Given the description of an element on the screen output the (x, y) to click on. 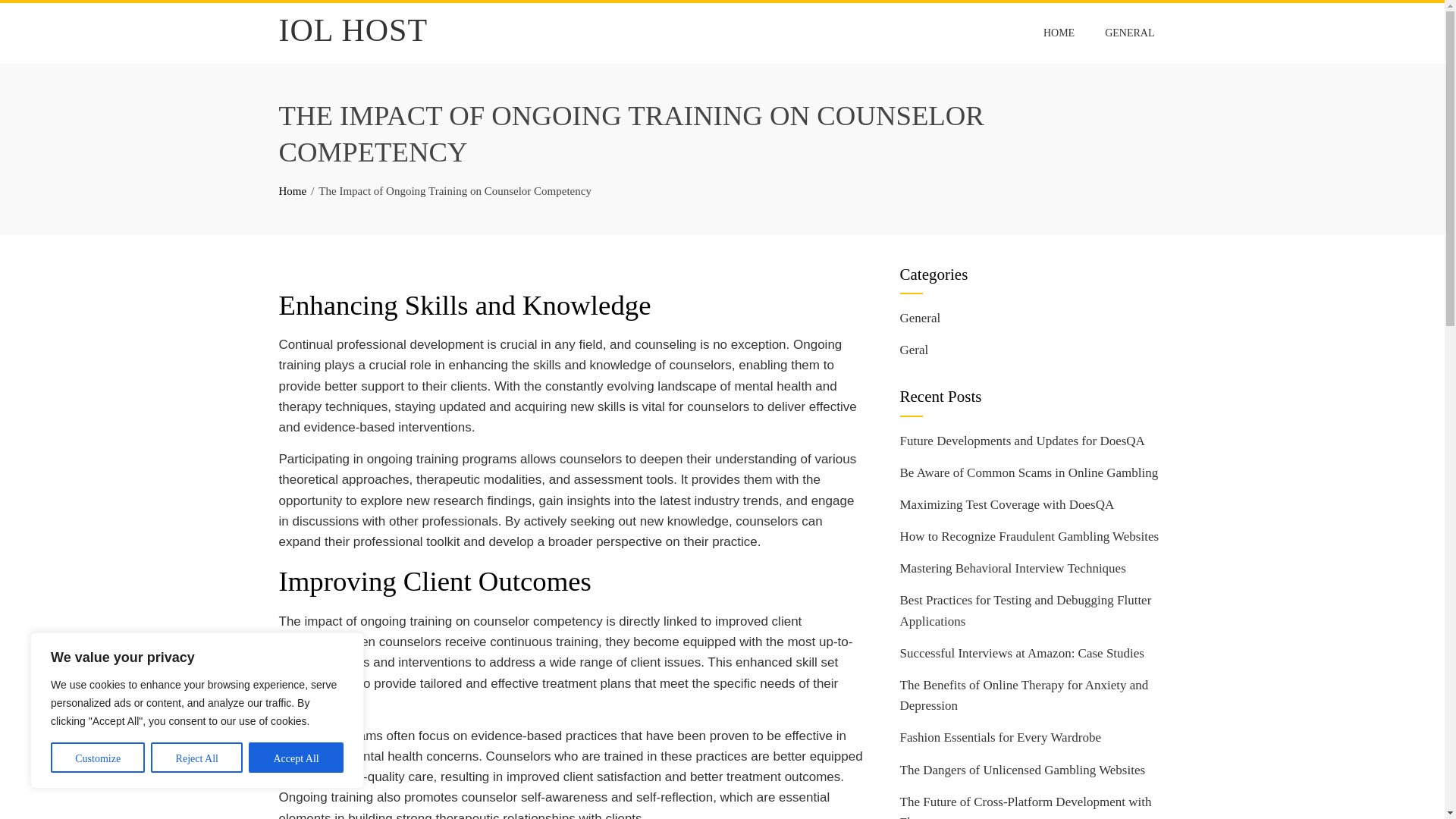
Geral (913, 350)
Accept All (295, 757)
Mastering Behavioral Interview Techniques (1012, 568)
Home (293, 191)
HOME (1059, 32)
Maximizing Test Coverage with DoesQA (1006, 504)
The Benefits of Online Therapy for Anxiety and Depression (1023, 695)
Fashion Essentials for Every Wardrobe (999, 737)
GENERAL (1129, 32)
Future Developments and Updates for DoesQA (1021, 440)
The Dangers of Unlicensed Gambling Websites (1021, 769)
Reject All (197, 757)
IOL HOST (353, 30)
Successful Interviews at Amazon: Case Studies (1020, 653)
